Given the description of an element on the screen output the (x, y) to click on. 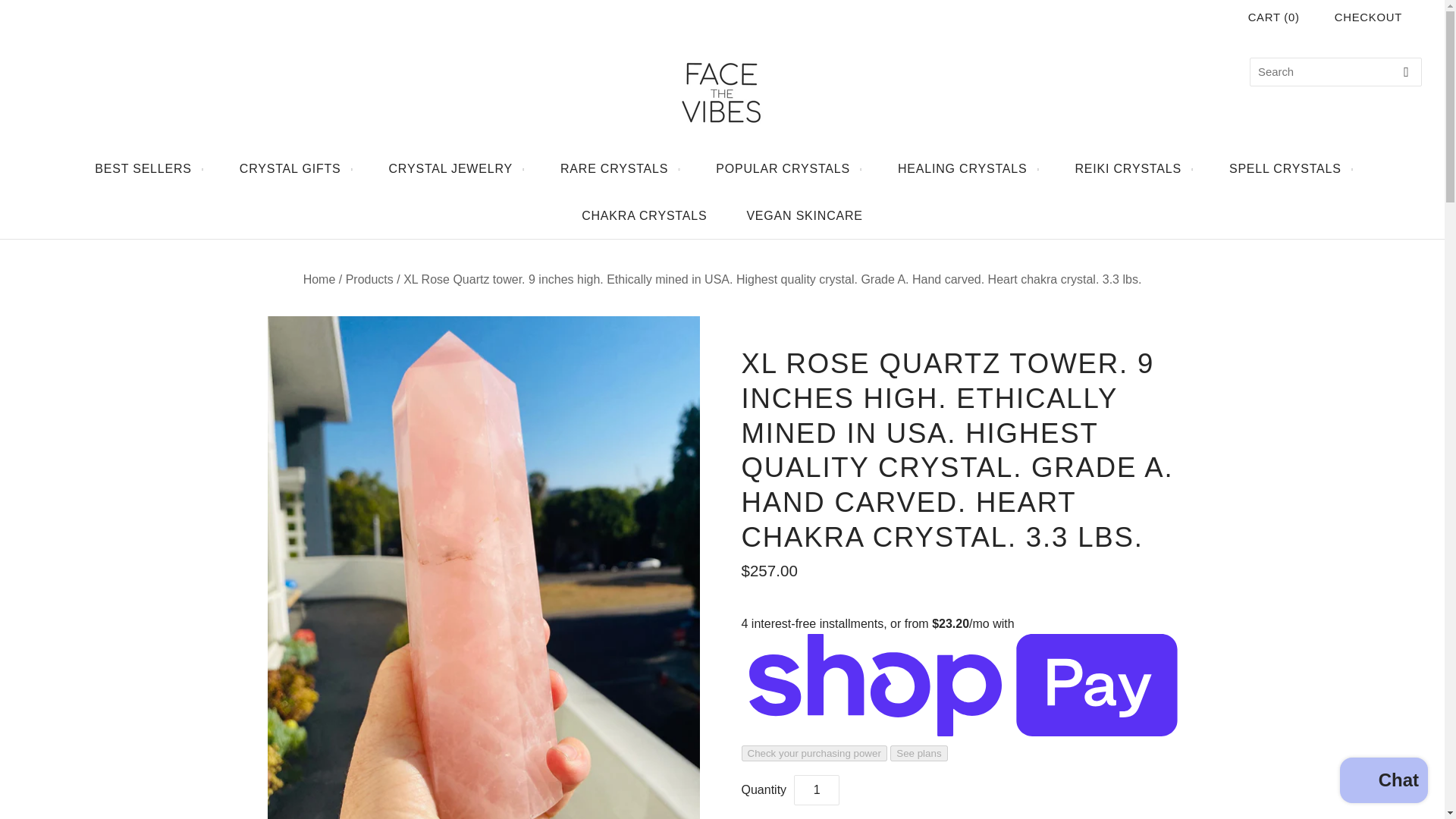
POPULAR CRYSTALS (786, 168)
CRYSTAL GIFTS (294, 168)
Shopify online store chat (1383, 781)
CRYSTAL JEWELRY (454, 168)
BEST SELLERS (147, 168)
CHECKOUT (1368, 17)
1 (816, 789)
RARE CRYSTALS (617, 168)
